Given the description of an element on the screen output the (x, y) to click on. 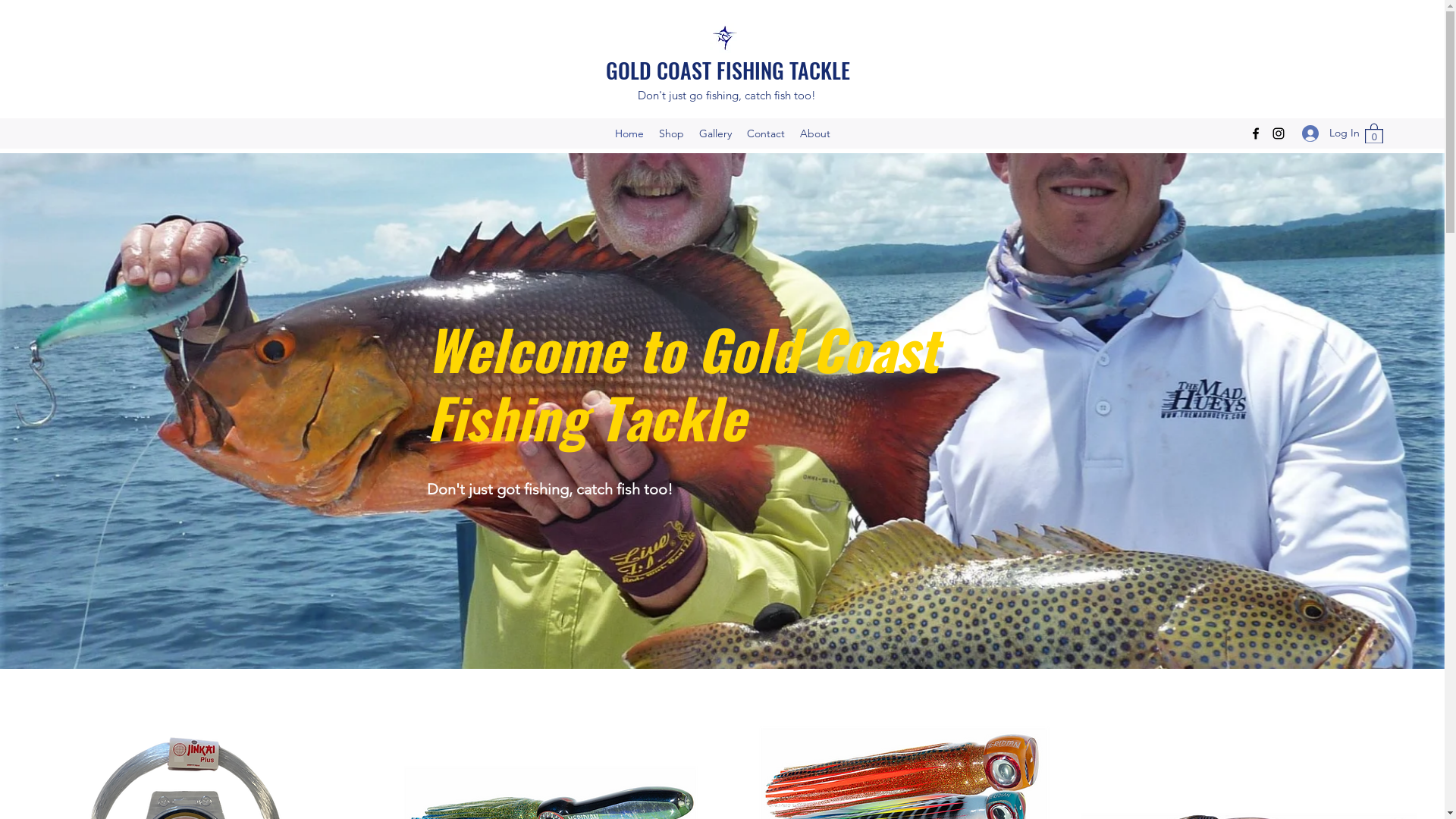
Log In Element type: text (1325, 133)
Home Element type: text (628, 133)
GOLD COAST FISHING TACKLE Element type: text (727, 69)
Gallery Element type: text (715, 133)
About Element type: text (814, 133)
Contact Element type: text (764, 133)
Shop Element type: text (670, 133)
0 Element type: text (1374, 133)
